Given the description of an element on the screen output the (x, y) to click on. 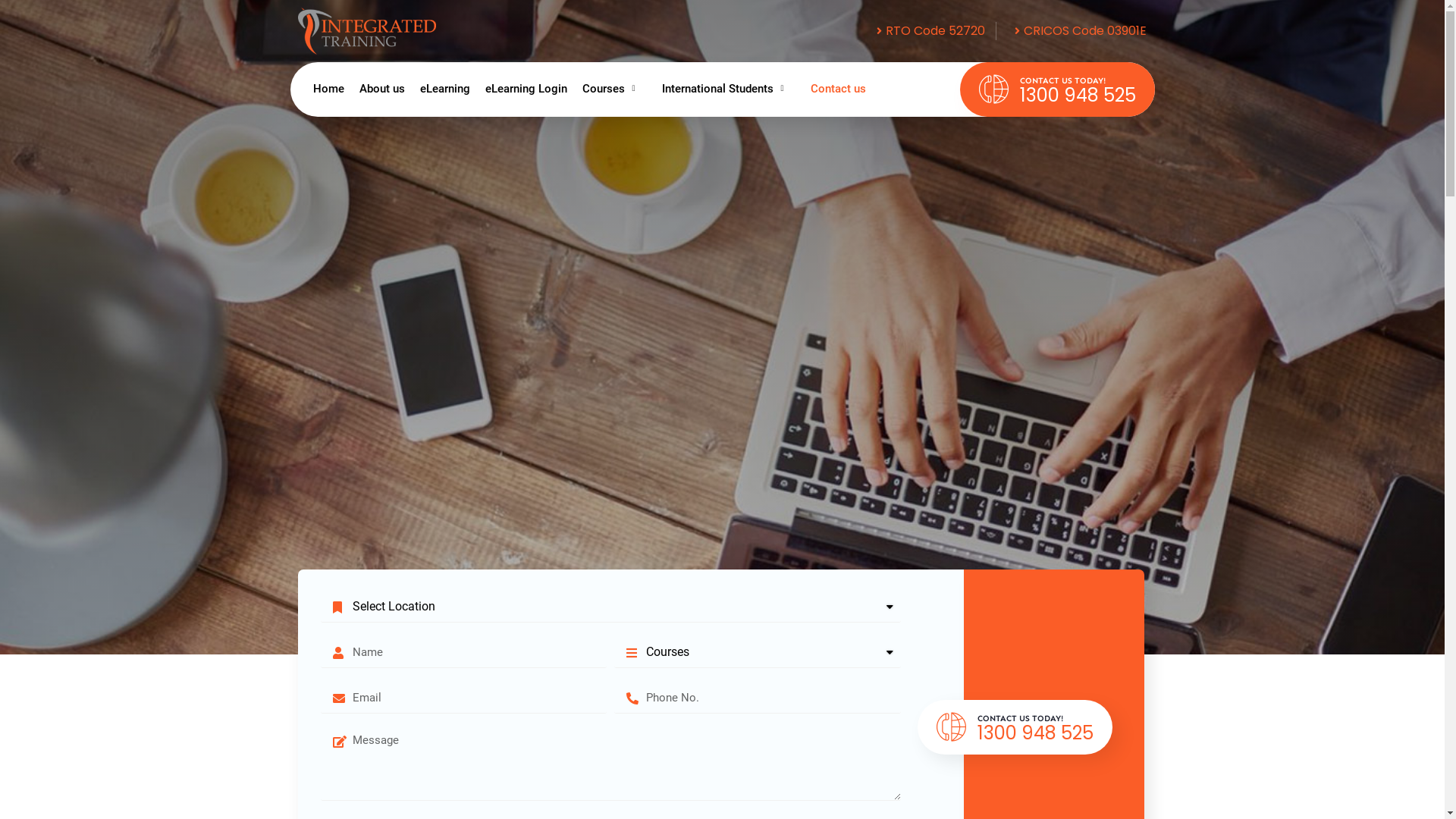
eLearning Element type: text (444, 89)
eLearning Login Element type: text (525, 89)
International Students Element type: text (728, 89)
Contact us Element type: text (838, 89)
Home Element type: text (327, 89)
About us Element type: text (381, 89)
Courses Element type: text (614, 89)
CONTACT US TODAY! Element type: text (1020, 718)
